Given the description of an element on the screen output the (x, y) to click on. 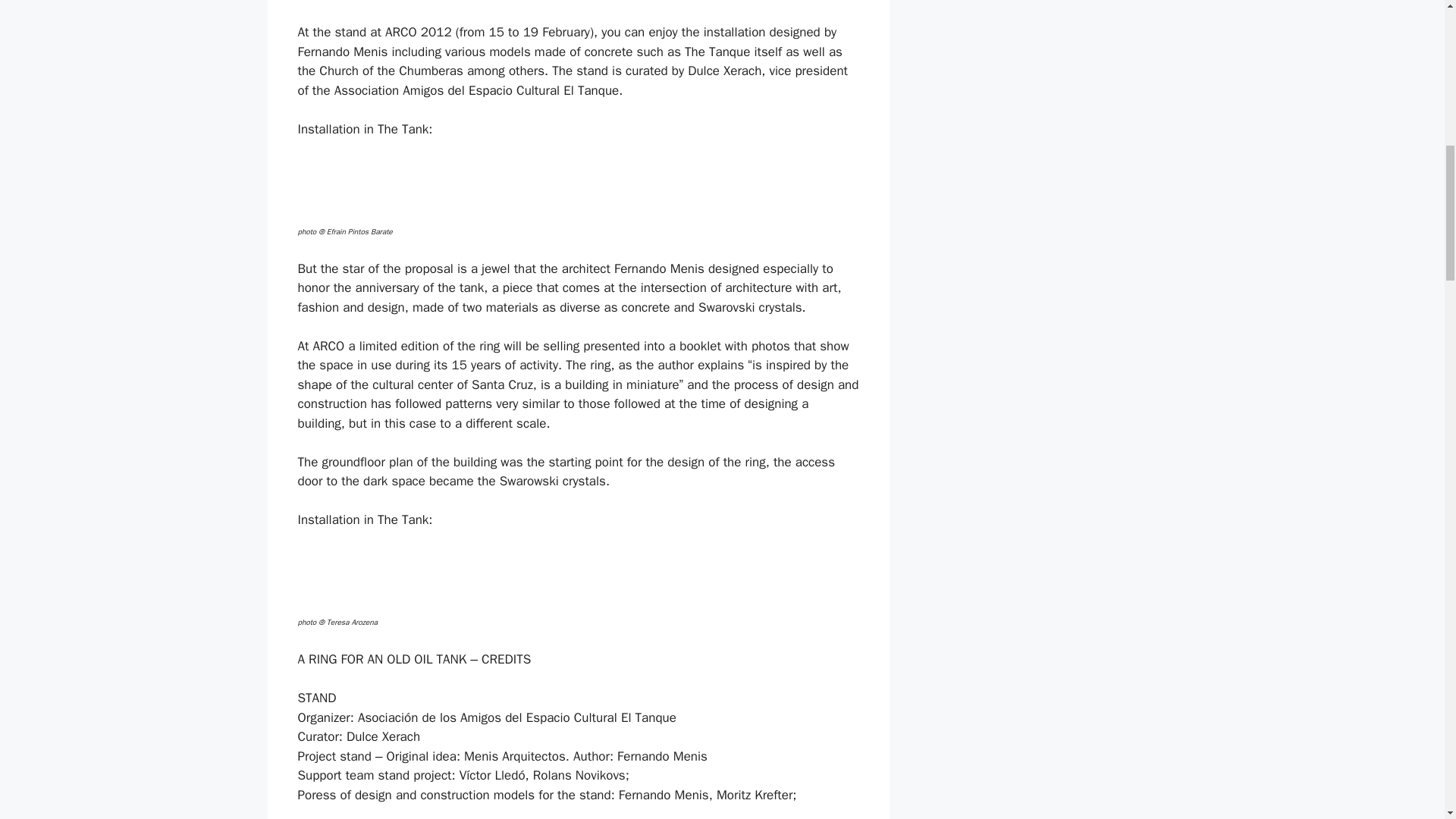
Scroll back to top (1406, 720)
